Given the description of an element on the screen output the (x, y) to click on. 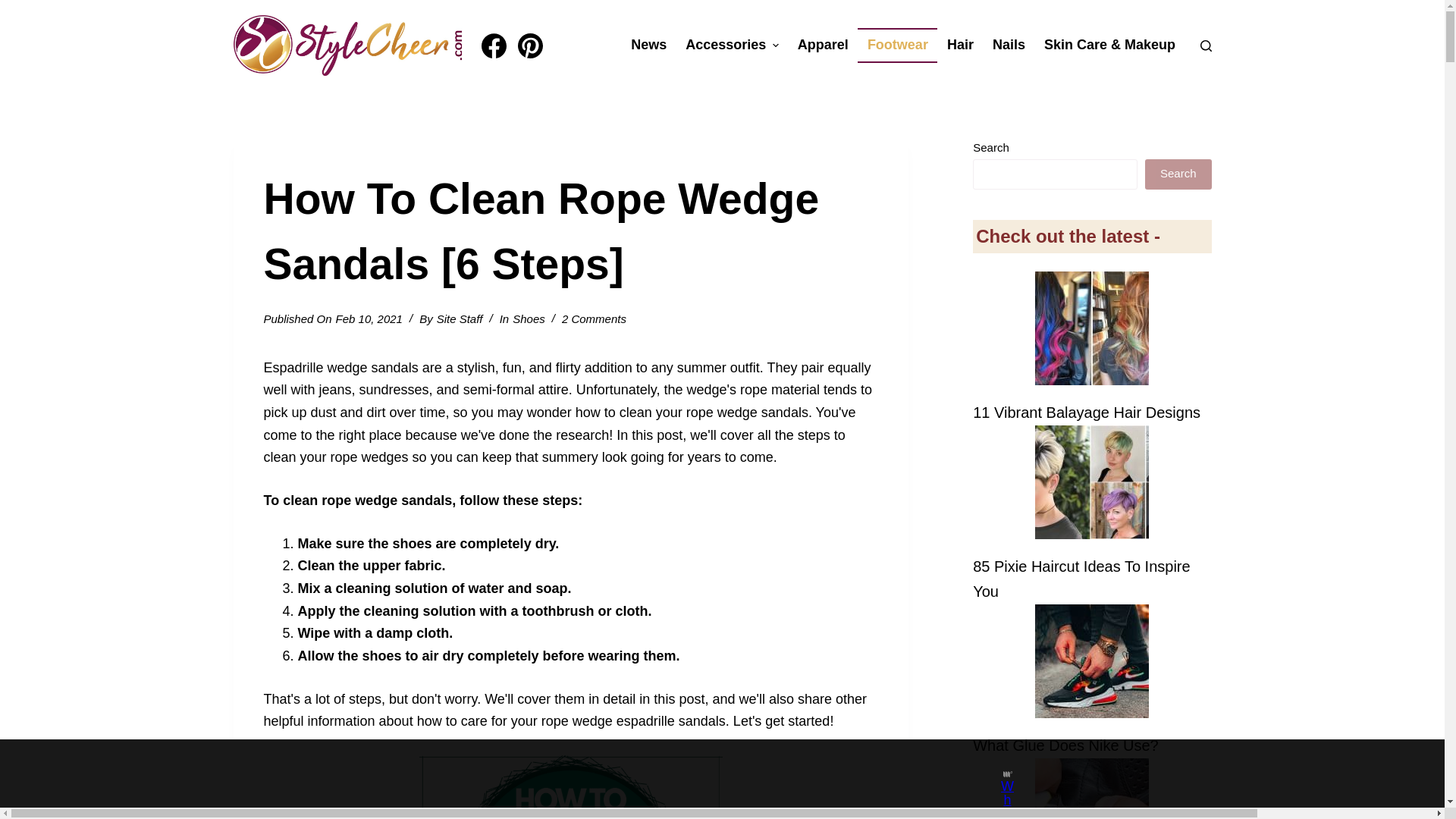
Footwear (897, 45)
Accessories (733, 45)
Nails (1007, 45)
Site Staff (459, 318)
3rd party ad content (708, 773)
Hair (959, 45)
2 Comments (594, 318)
Skip to content (15, 7)
Posts by Site Staff (459, 318)
Apparel (822, 45)
News (649, 45)
Shoes (528, 318)
